Given the description of an element on the screen output the (x, y) to click on. 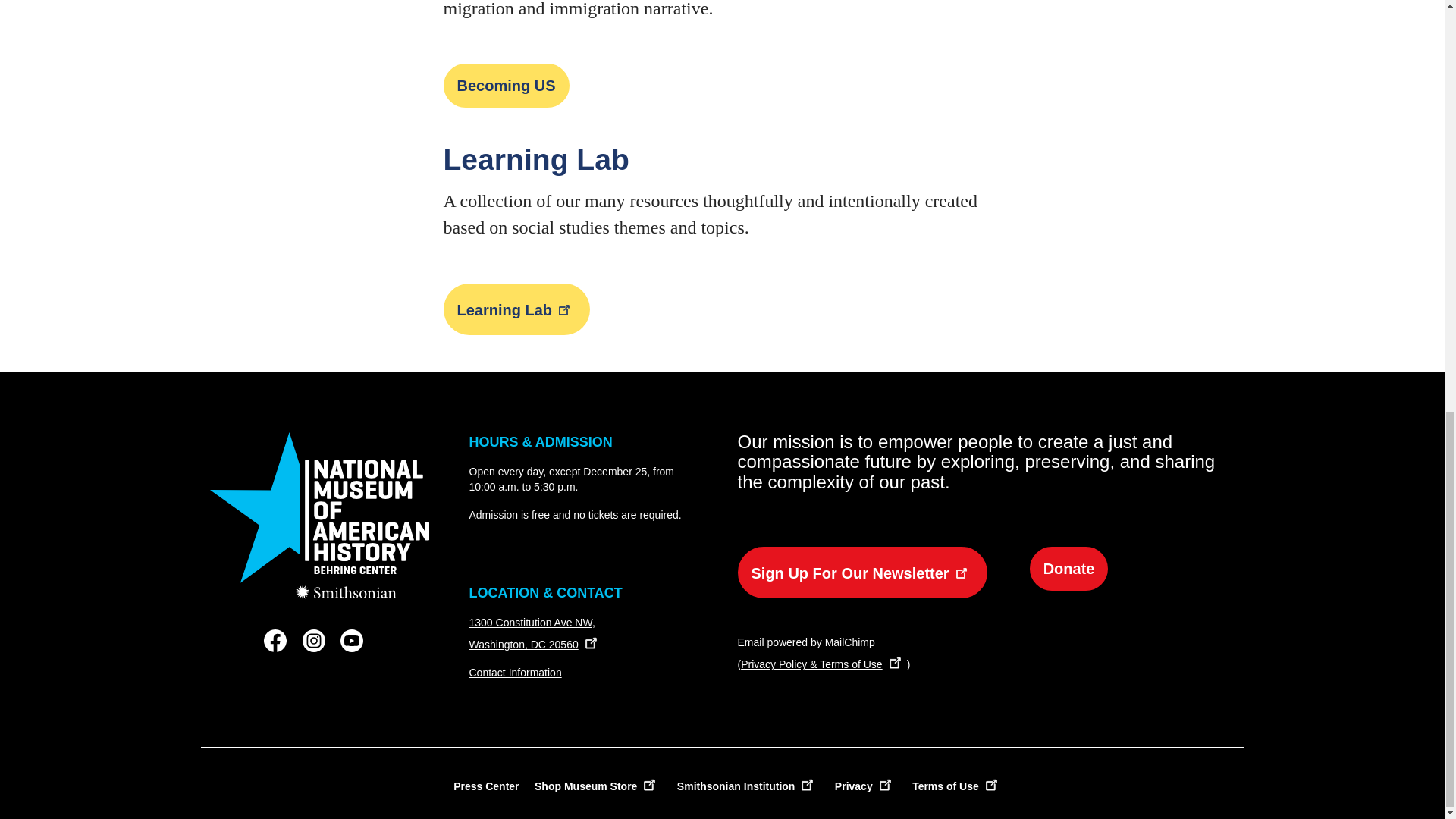
Becoming US (505, 85)
National Museum of American History (319, 515)
Contact Information (514, 672)
